Given the description of an element on the screen output the (x, y) to click on. 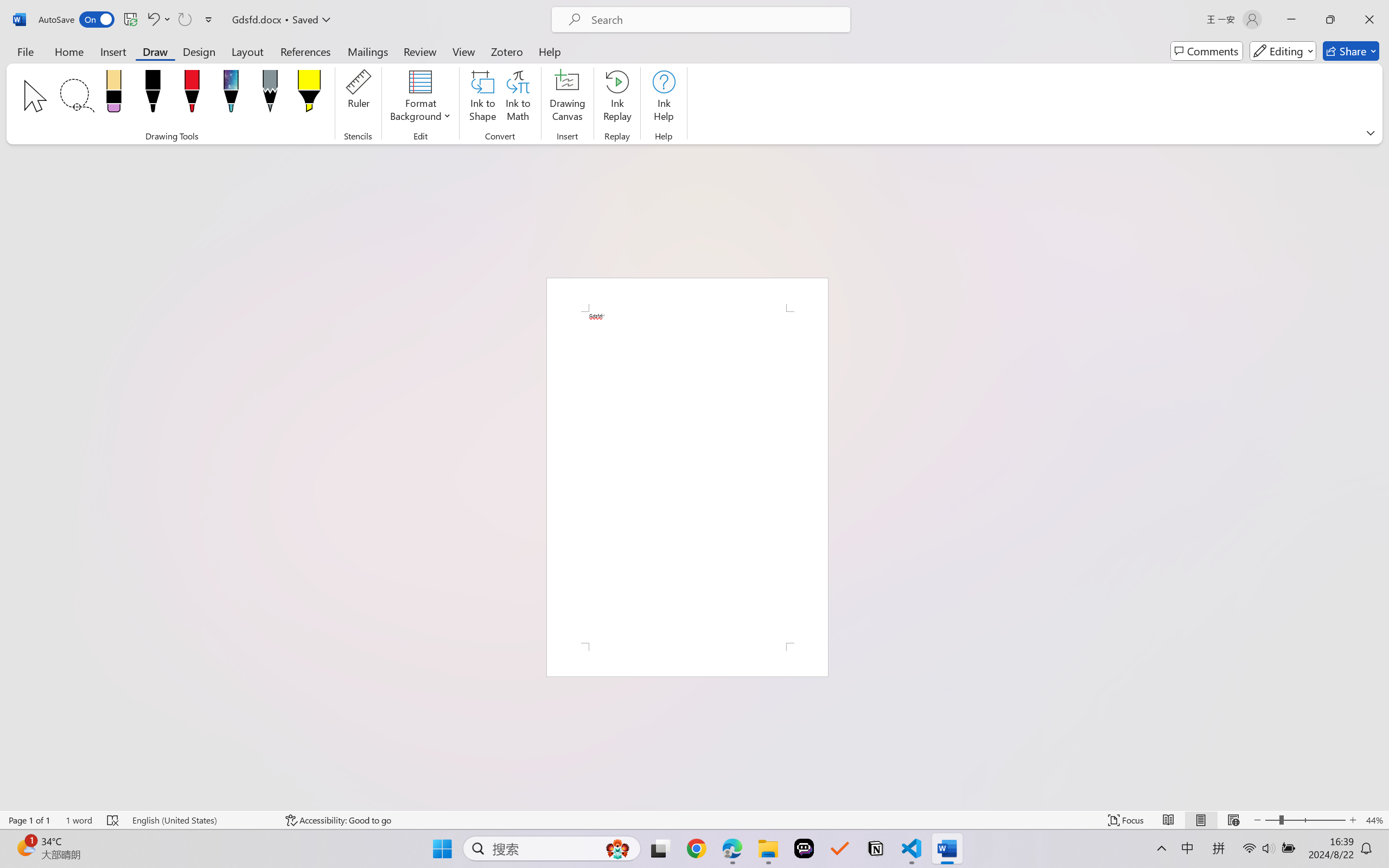
Reset to Cameo (257, 62)
Export to Video (317, 62)
Additional Information (1320, 498)
Learn More (351, 62)
Save as Show (292, 62)
Action Center, 1 new notification (1372, 855)
